Given the description of an element on the screen output the (x, y) to click on. 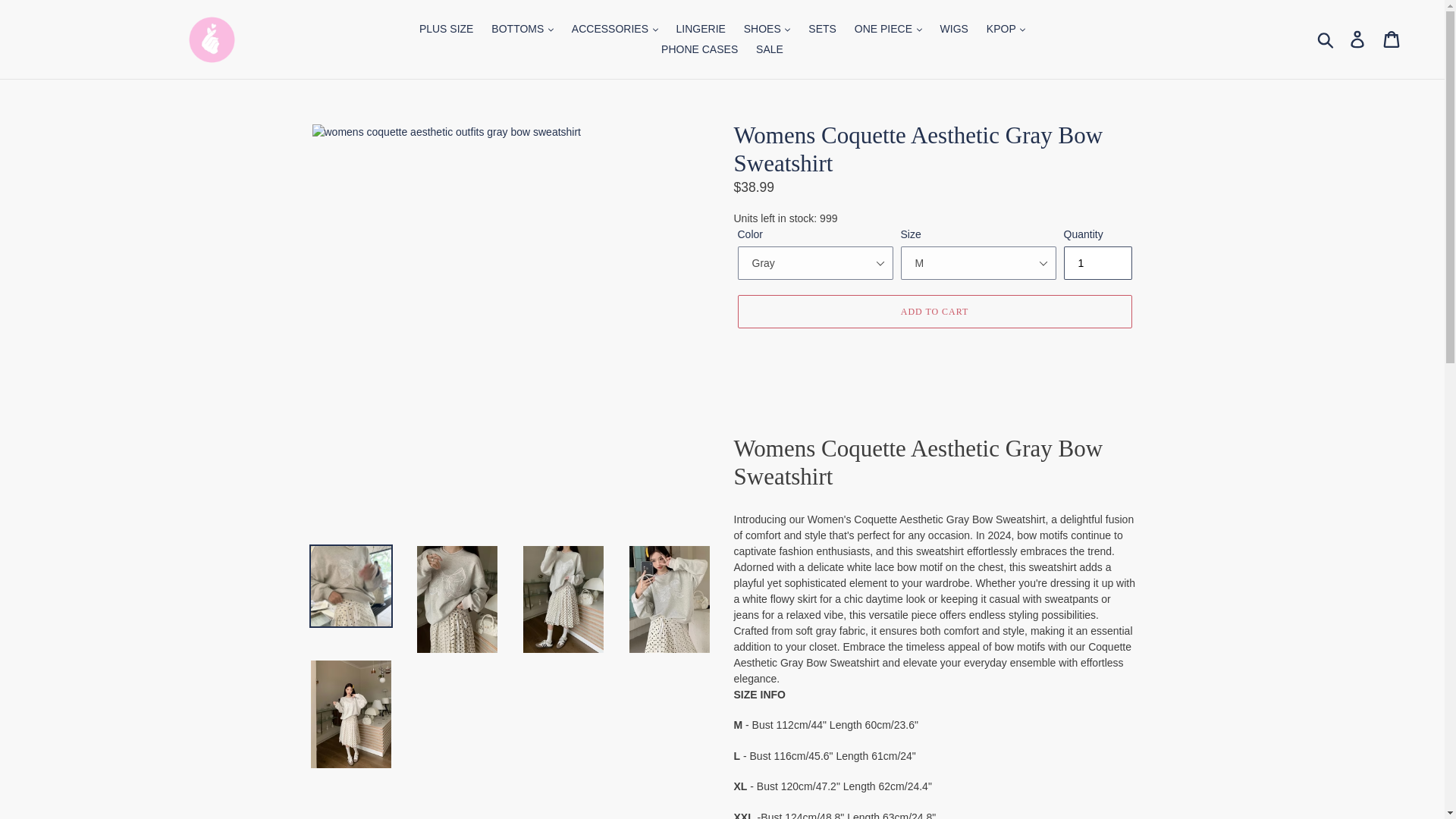
LINGERIE (700, 28)
PLUS SIZE (446, 28)
WIGS (954, 28)
1 (1096, 263)
PHONE CASES (699, 49)
SETS (822, 28)
Submit (1326, 39)
SALE (769, 49)
